Given the description of an element on the screen output the (x, y) to click on. 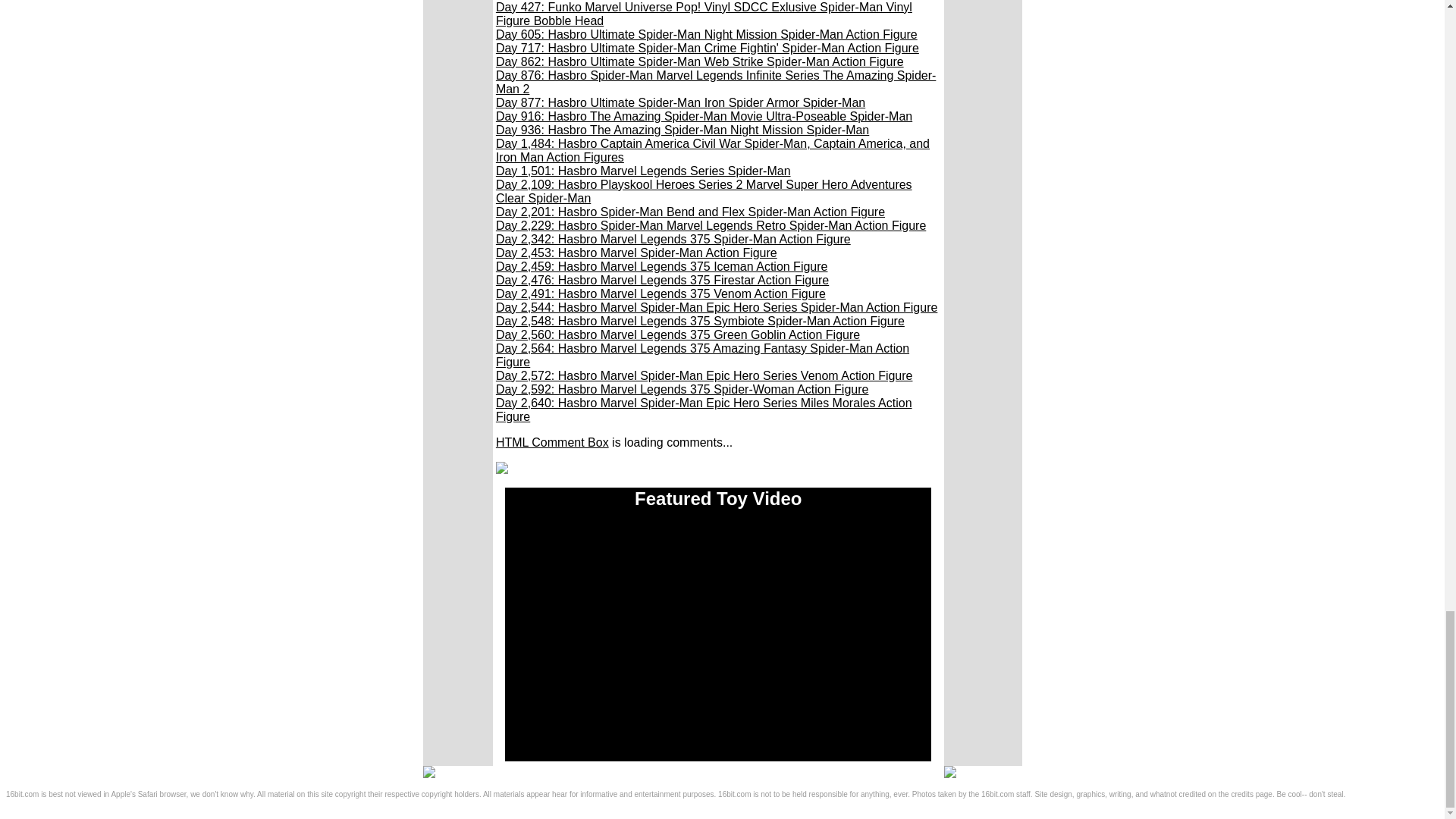
YouTube video player (717, 640)
